Given the description of an element on the screen output the (x, y) to click on. 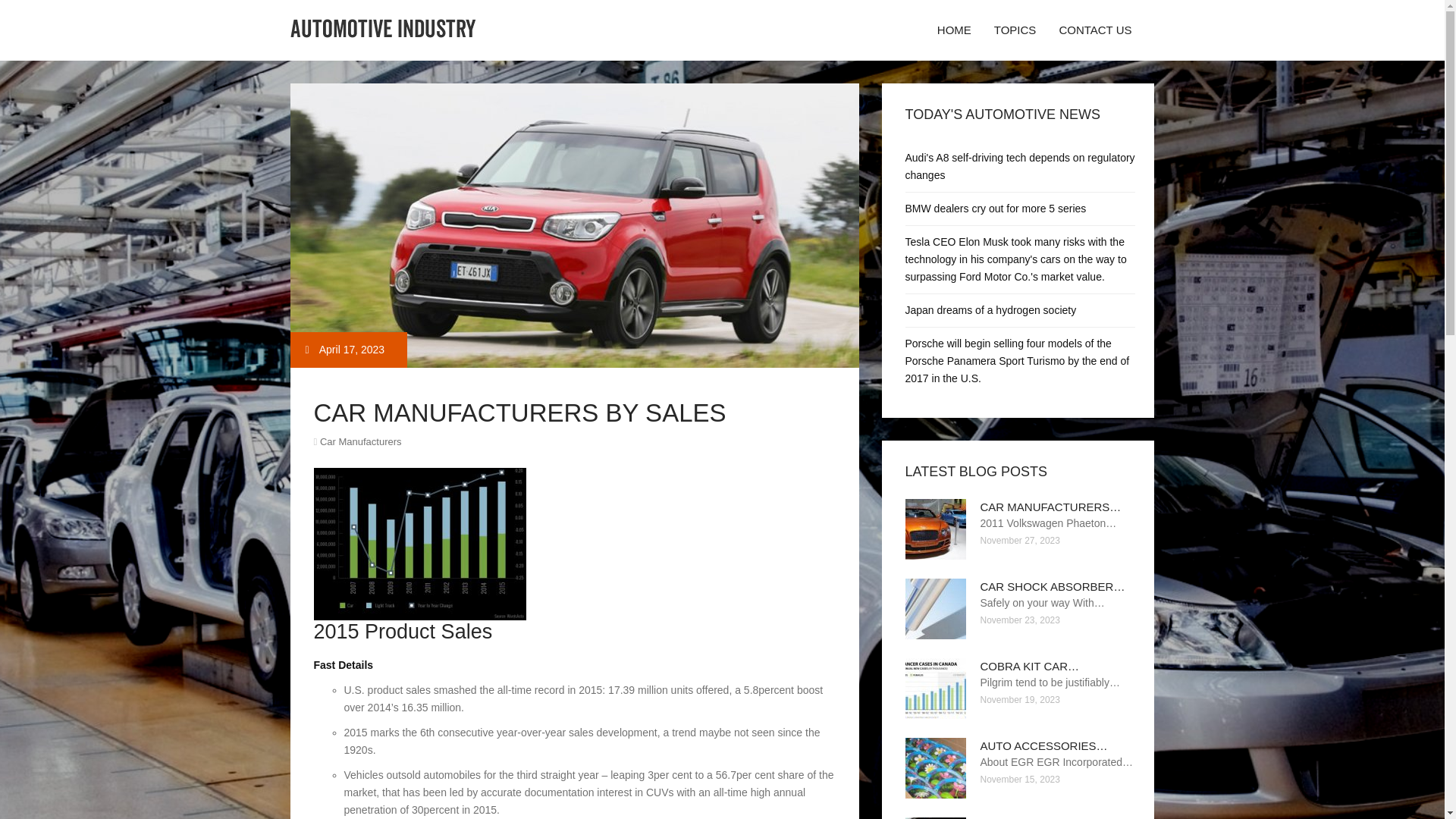
CONTACT US (1094, 30)
TOPICS (1015, 30)
2013 Sales Projection (419, 543)
Car Manufacturers (360, 441)
HOME (954, 30)
